Given the description of an element on the screen output the (x, y) to click on. 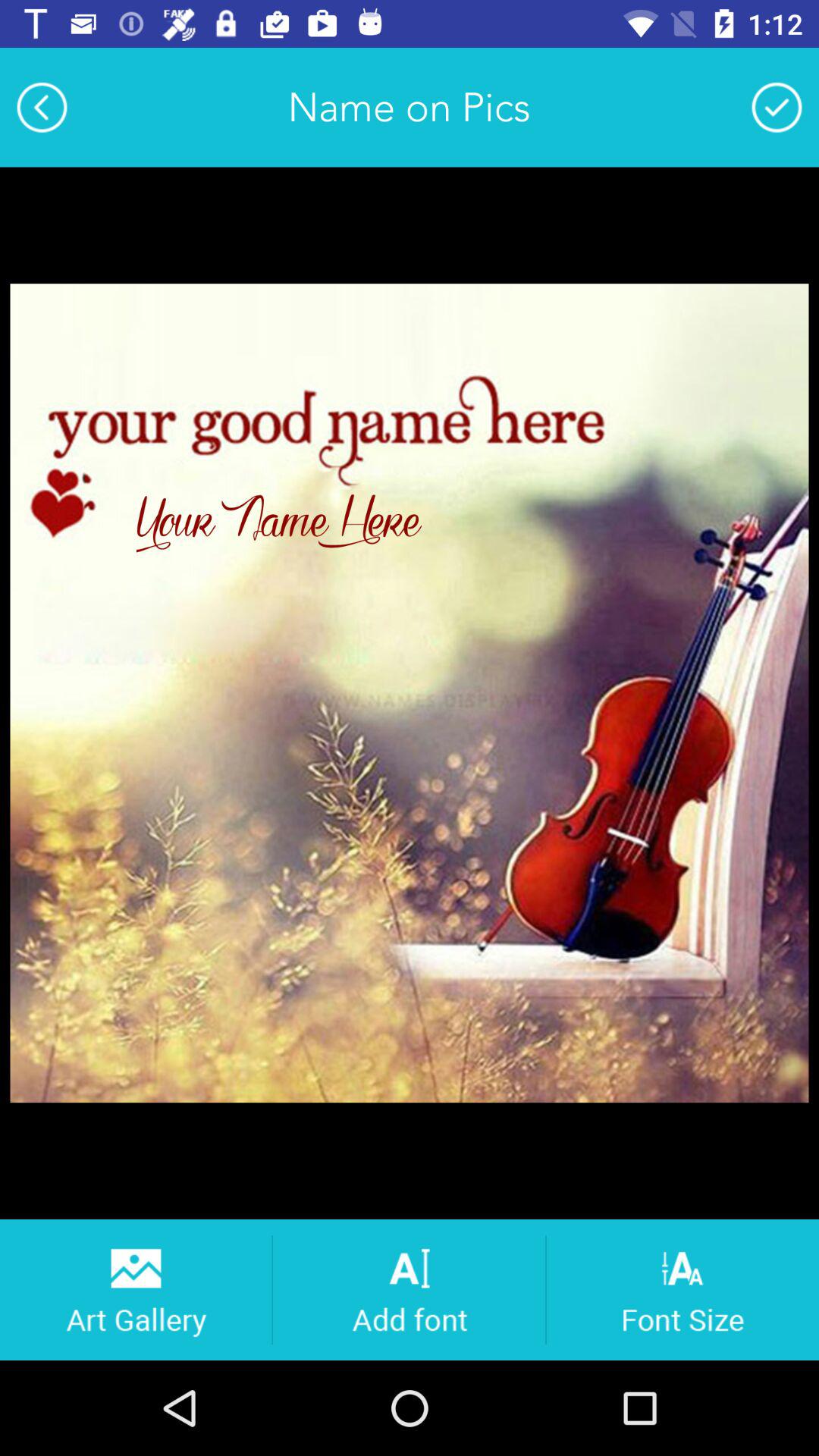
add text to picture (409, 1289)
